Given the description of an element on the screen output the (x, y) to click on. 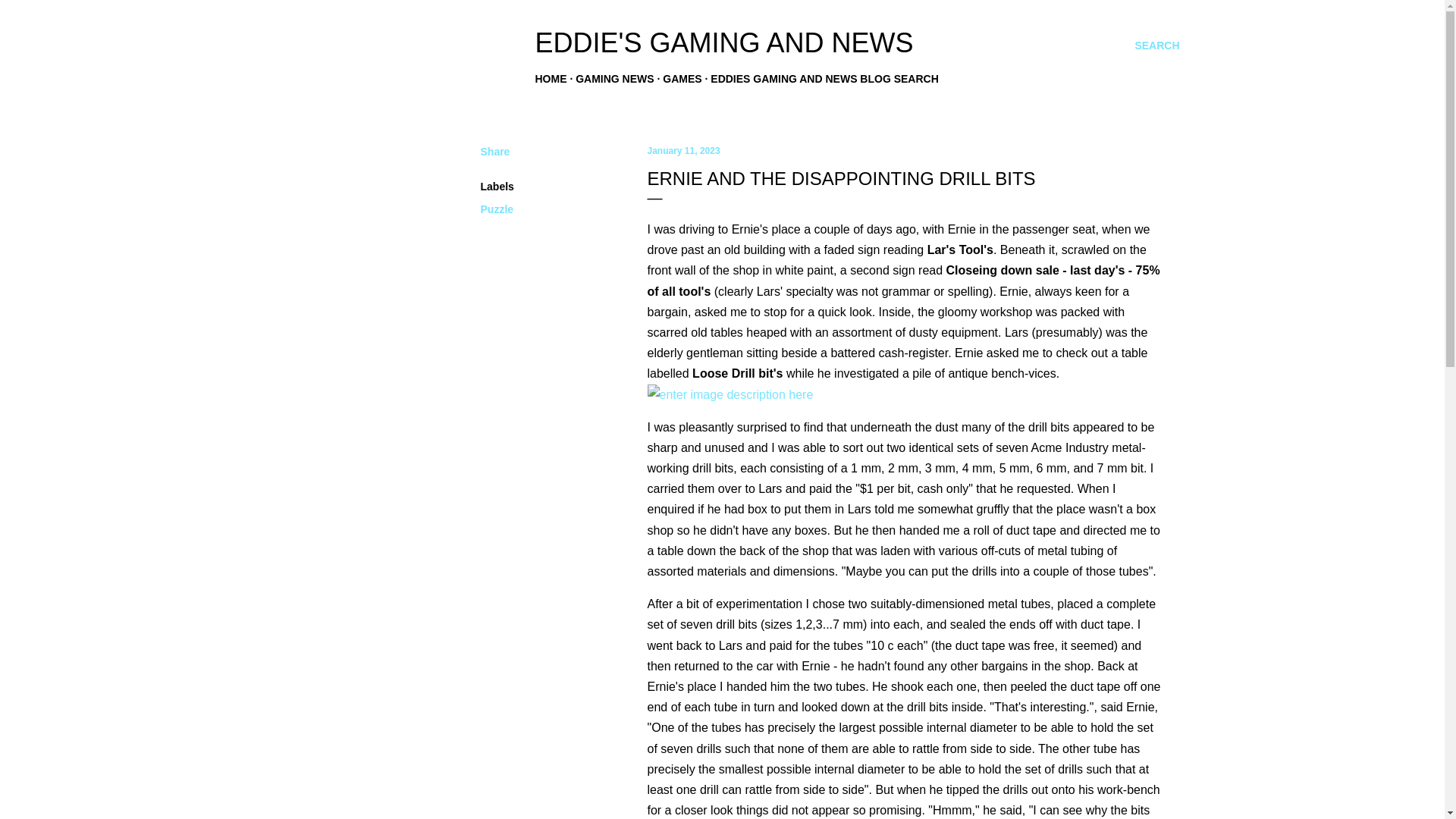
Share (495, 151)
permanent link (683, 150)
Puzzle (496, 209)
EDDIE'S GAMING AND NEWS (724, 42)
January 11, 2023 (683, 150)
GAMES (681, 78)
SEARCH (1156, 45)
EDDIES GAMING AND NEWS BLOG SEARCH (824, 78)
HOME (551, 78)
GAMING NEWS (614, 78)
